Given the description of an element on the screen output the (x, y) to click on. 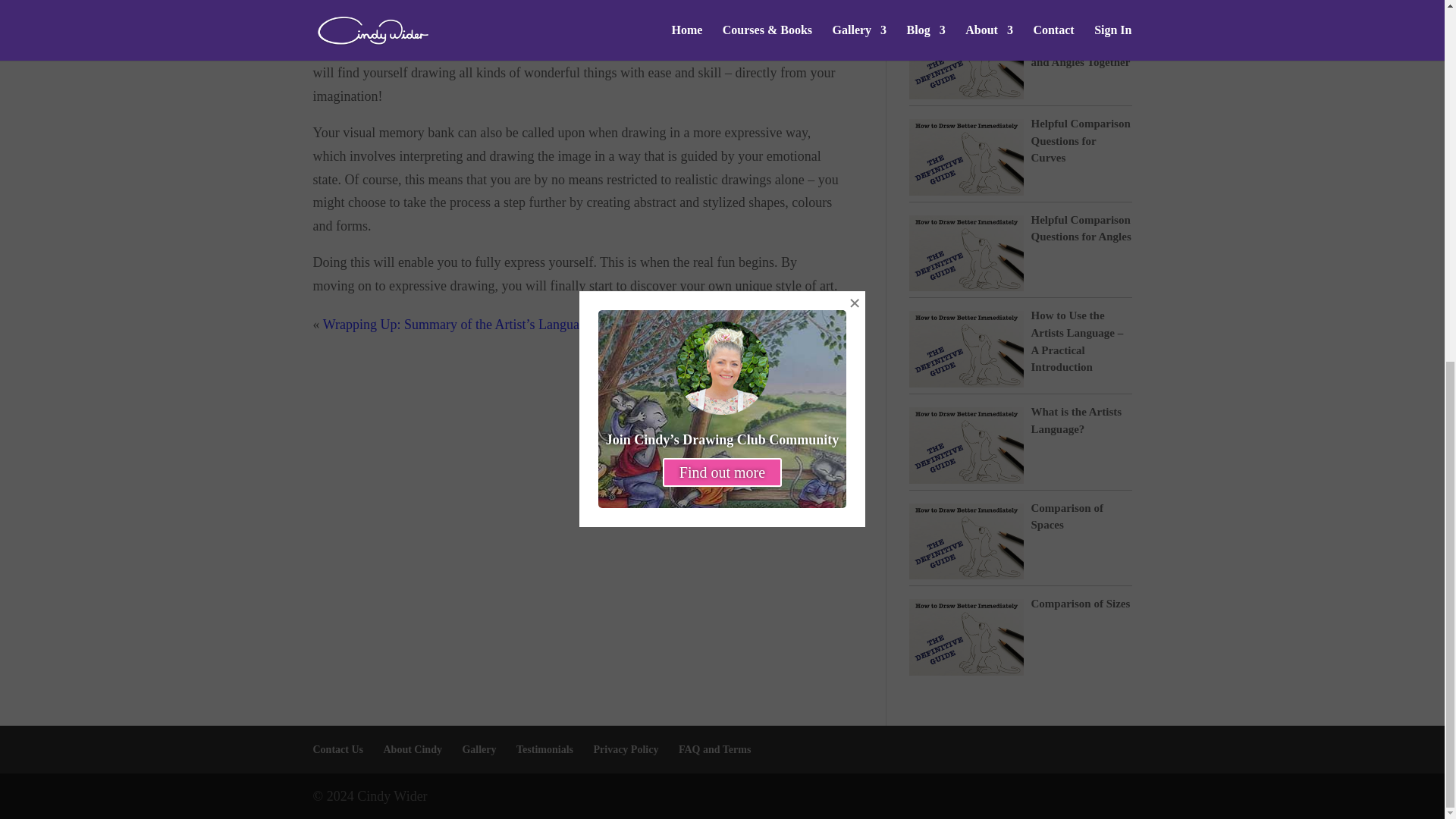
Helpful Comparison Questions for Sizes and Angles Together (1080, 44)
Helpful Comparison Questions for Curves (1080, 140)
Helpful Comparison Questions for Angles (1080, 228)
